Given the description of an element on the screen output the (x, y) to click on. 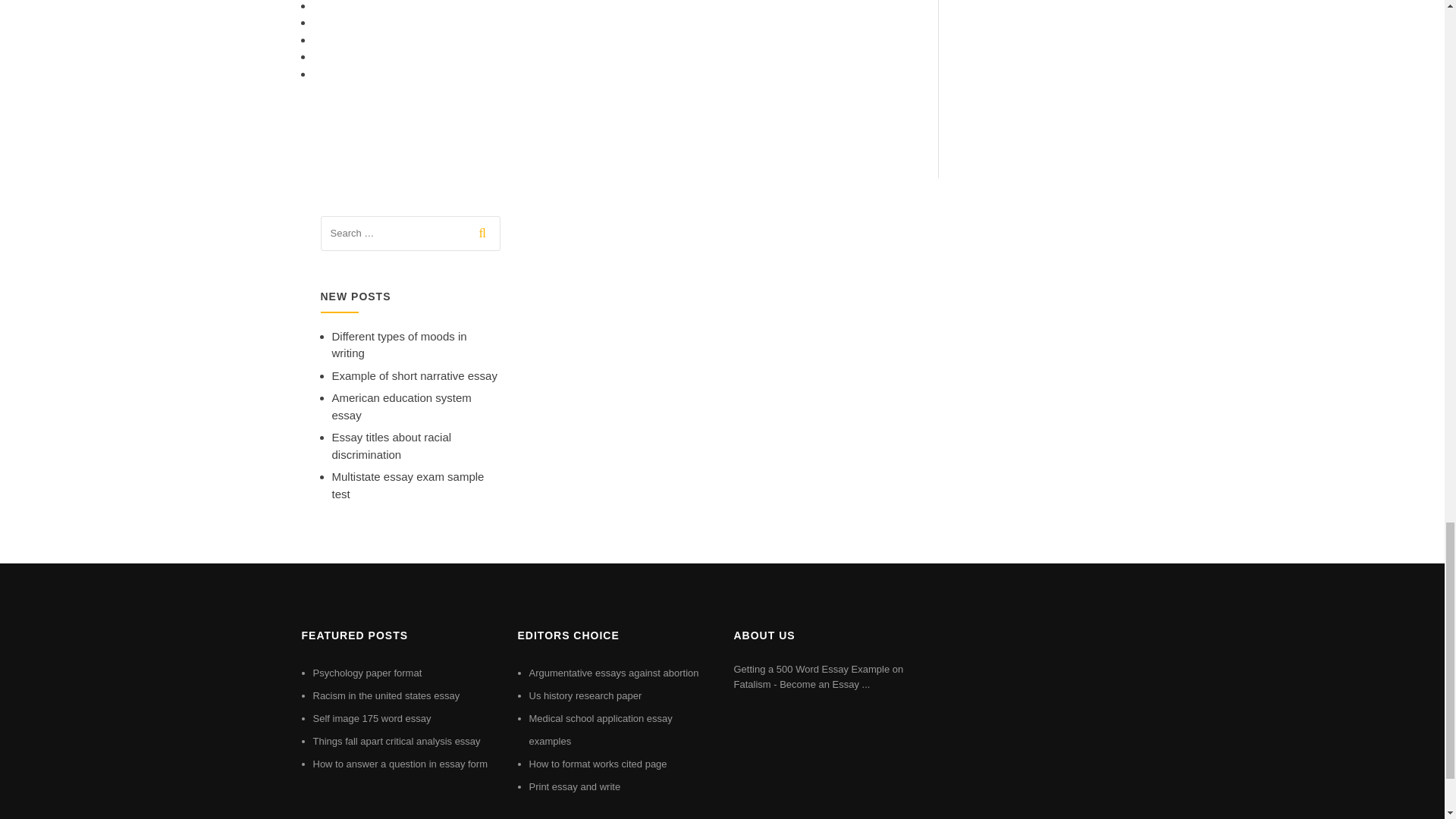
Self image 175 word essay (371, 717)
Psychology paper format (367, 672)
Essay titles about racial discrimination (391, 445)
Things fall apart critical analysis essay (396, 740)
Print essay and write (575, 786)
American education system essay (401, 406)
Example of short narrative essay (414, 375)
Different types of moods in writing (399, 345)
Racism in the united states essay (386, 695)
How to format works cited page (597, 763)
How to answer a question in essay form (400, 763)
Medical school application essay examples (600, 729)
Argumentative essays against abortion (613, 672)
Us history research paper (585, 695)
Multistate essay exam sample test (407, 485)
